Given the description of an element on the screen output the (x, y) to click on. 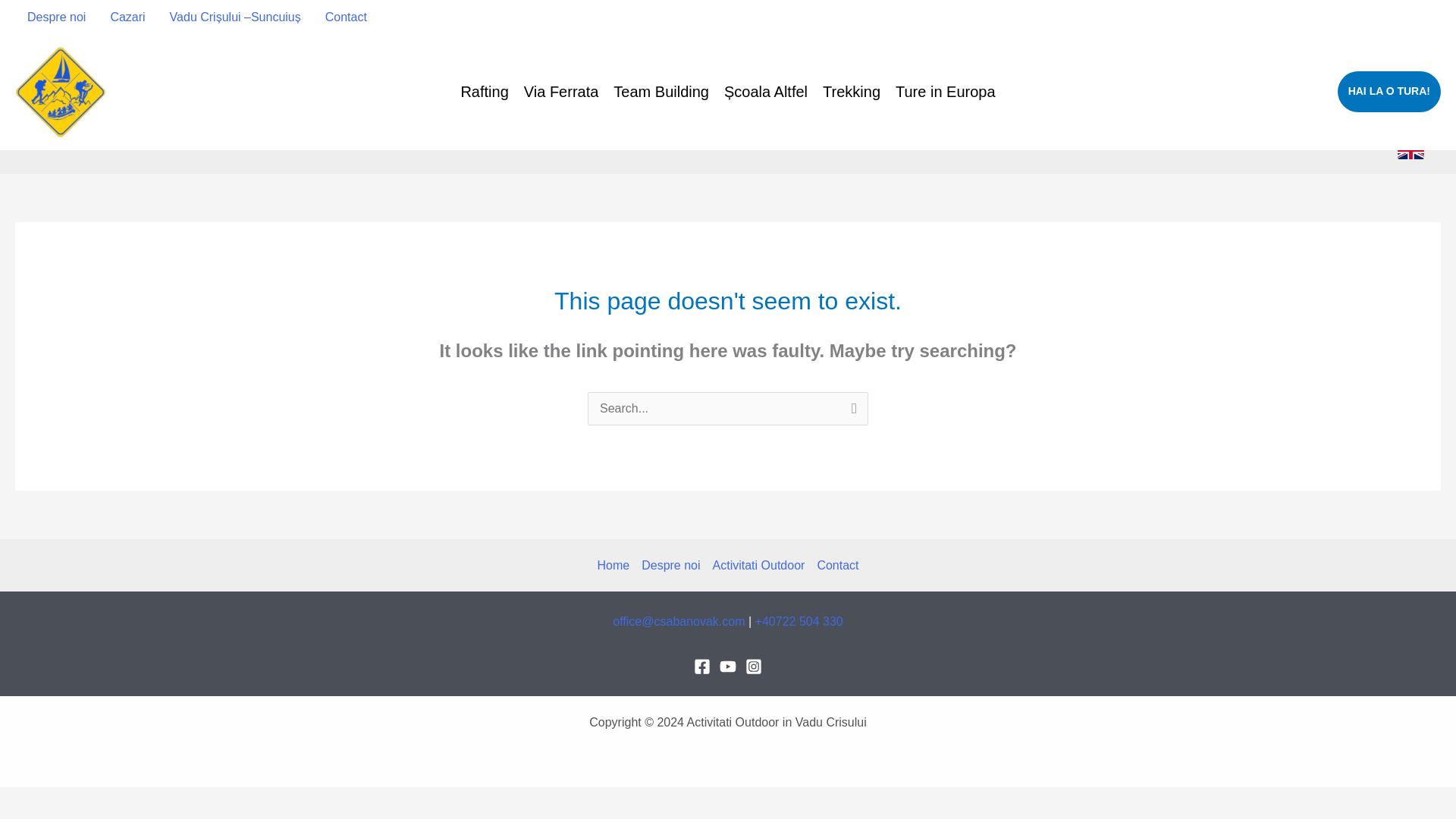
HAI LA O TURA! (1389, 91)
Contact (345, 17)
Via Ferrata (561, 91)
Ture in Europa (945, 91)
Rafting (483, 91)
Team Building (660, 91)
Trekking (851, 91)
Cazari (127, 17)
Home (615, 565)
Despre noi (55, 17)
